Given the description of an element on the screen output the (x, y) to click on. 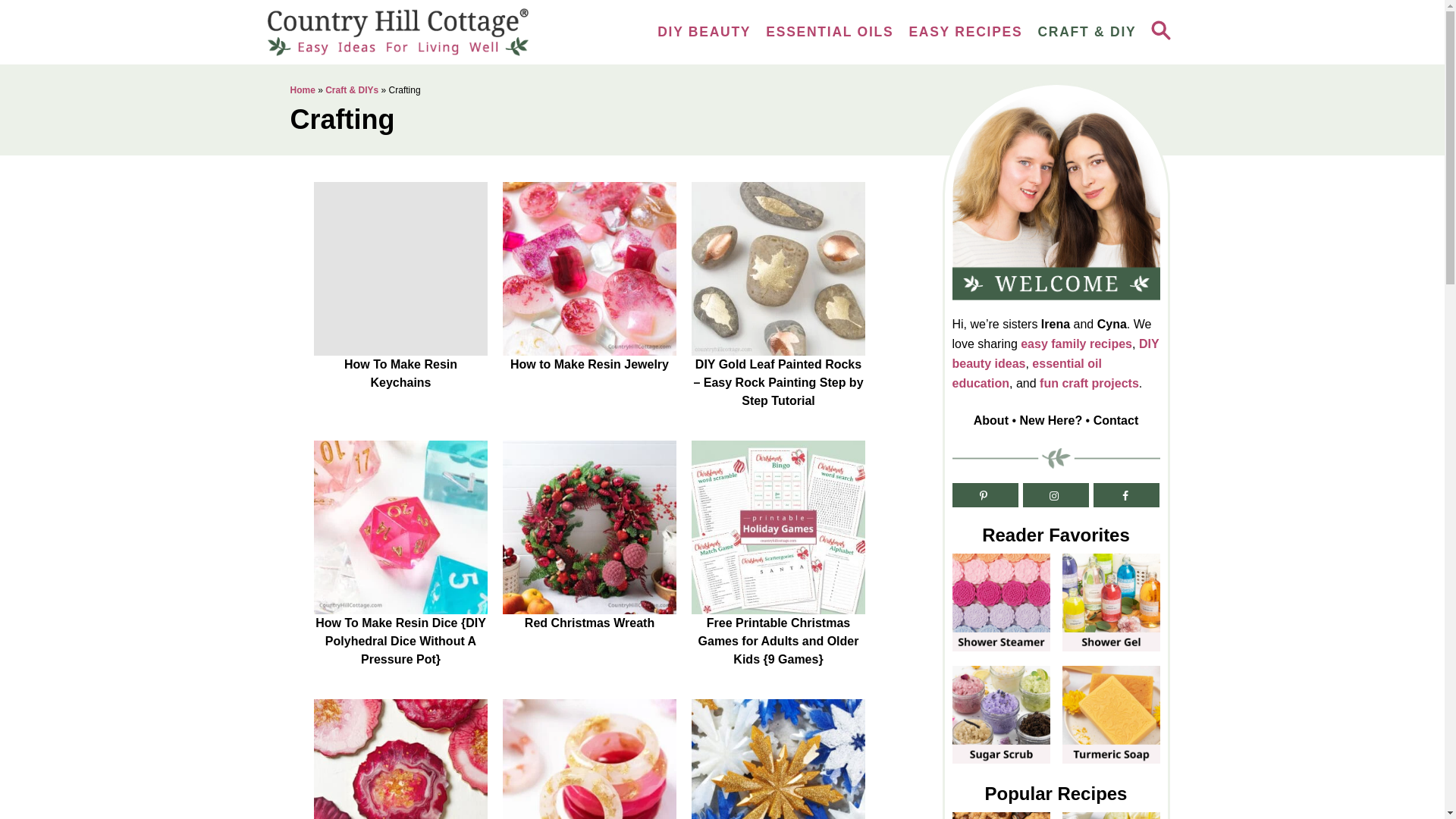
How To Make Resin Ornaments (777, 759)
Red Christmas Wreath (589, 526)
How To Make Resin Rings (589, 759)
How to Make Resin Jewelry (589, 363)
How To Make Resin Keychains (400, 268)
Country Hill Cottage (403, 32)
ESSENTIAL OILS (829, 32)
How to Make Resin Coasters (400, 759)
DIY BEAUTY (703, 32)
EASY RECIPES (965, 32)
How To Make Resin Keychains (400, 372)
Home (301, 90)
SEARCH (1159, 31)
How to Make Resin Jewelry (589, 268)
